Given the description of an element on the screen output the (x, y) to click on. 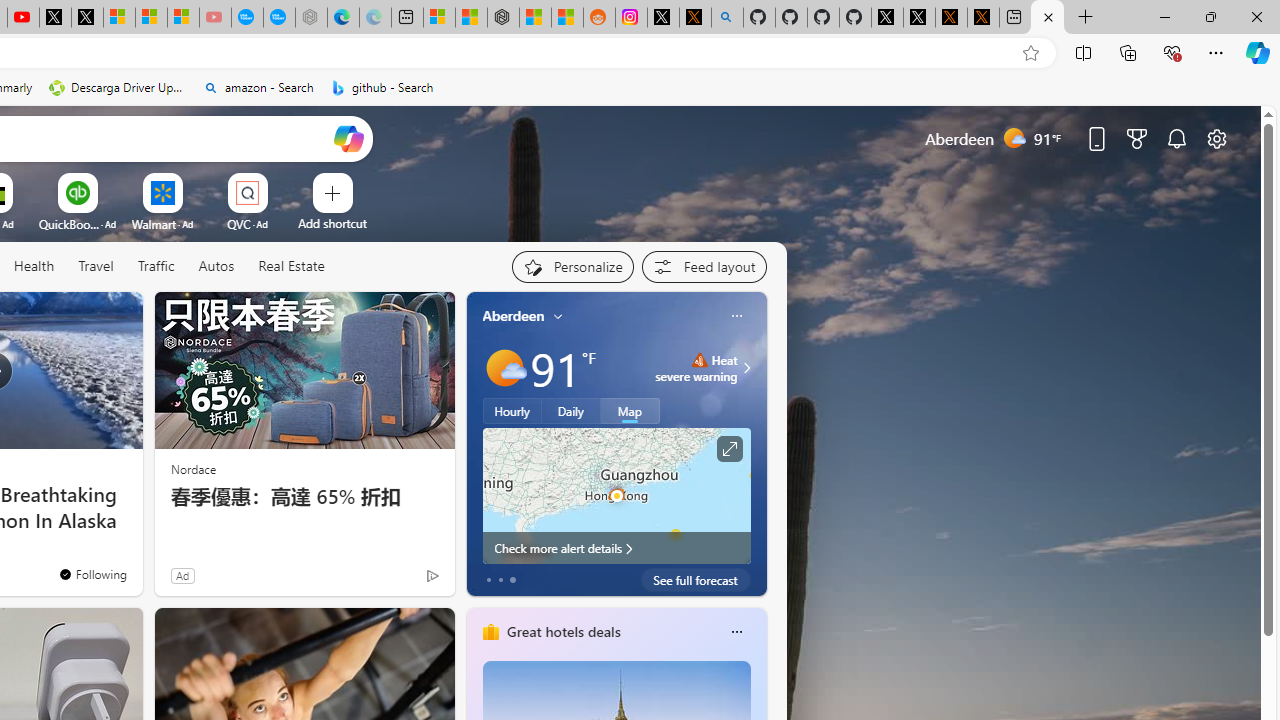
Real Estate (291, 265)
Click to see more information (728, 449)
Class: icon-img (736, 632)
Mostly sunny (504, 368)
Health (34, 265)
This story is trending (393, 579)
Feed settings (703, 266)
Travel (95, 265)
tab-1 (500, 579)
hotels-header-icon (490, 632)
X Privacy Policy (983, 17)
